Given the description of an element on the screen output the (x, y) to click on. 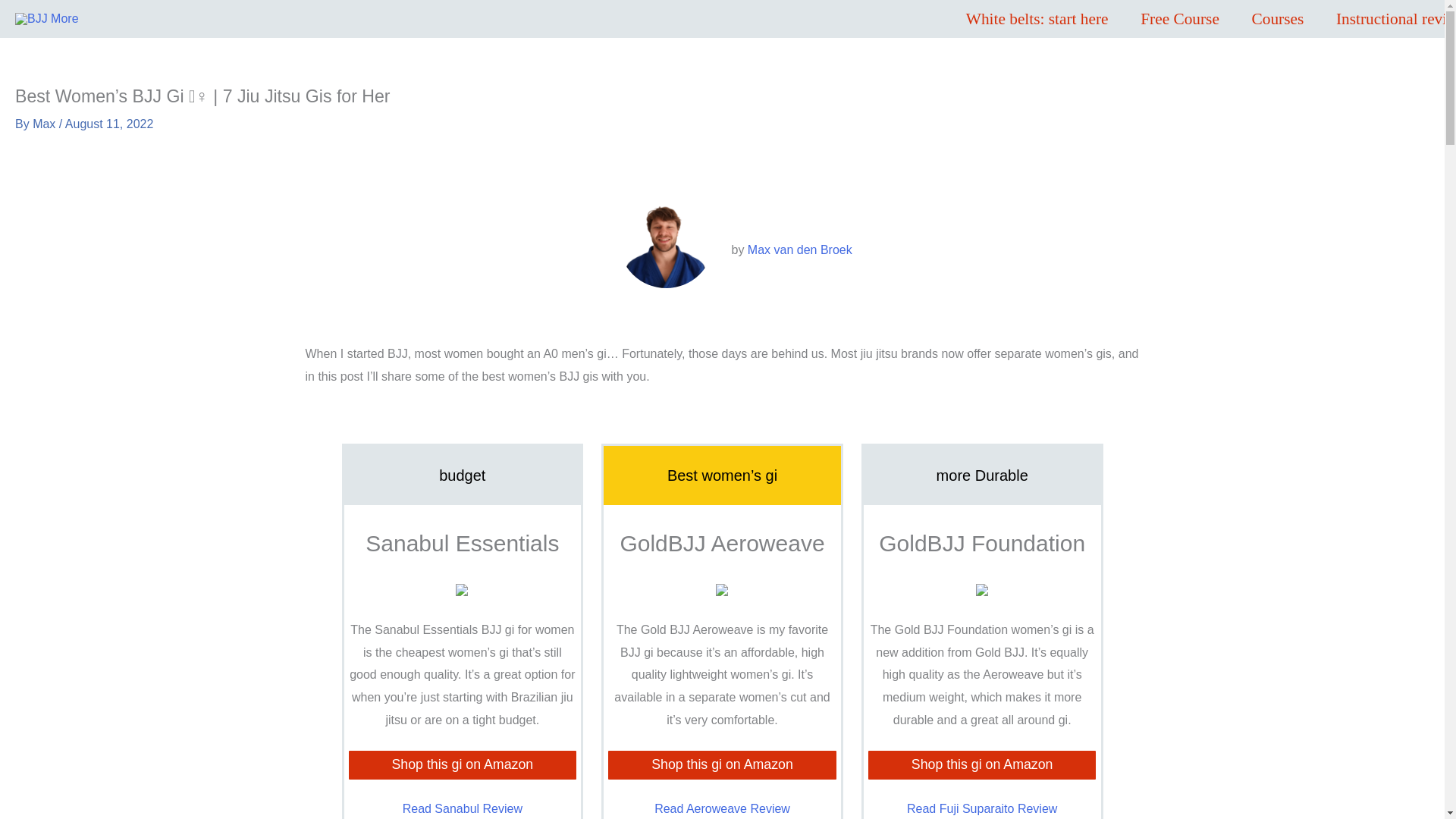
Courses (1276, 18)
Max (45, 123)
Max van den Broek (799, 249)
Instructional reviews (1388, 18)
Free Course (1179, 18)
View all posts by Max (45, 123)
White belts: start here (1036, 18)
